Given the description of an element on the screen output the (x, y) to click on. 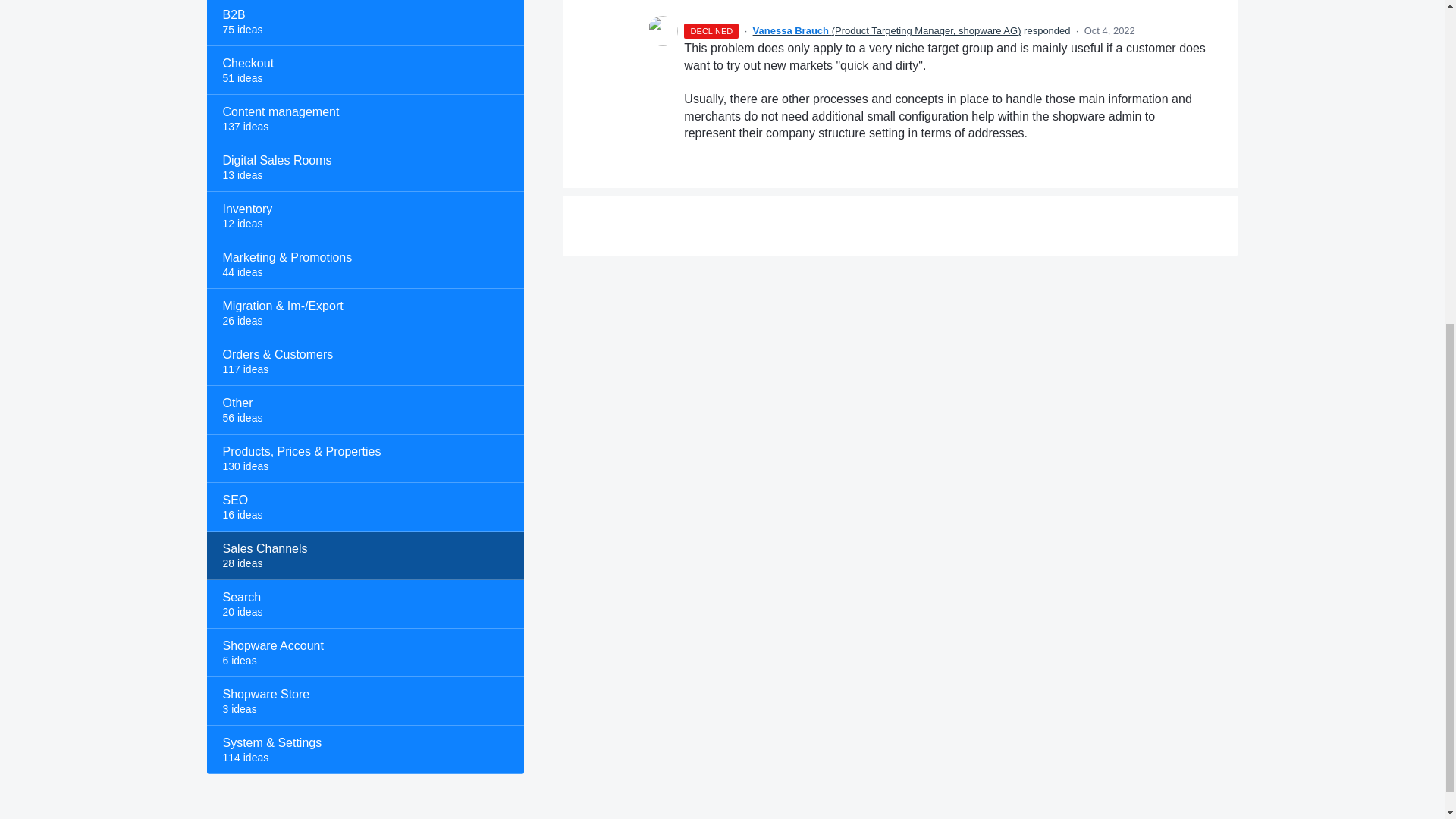
View all ideas in category B2B  (364, 22)
Digital Sales Rooms (364, 167)
Content management (364, 119)
View all ideas in category Content management (364, 119)
Checkout (364, 70)
SEO (364, 507)
View all ideas in category SEO (364, 507)
View all ideas in category Shopware Account (364, 652)
View all ideas in category Digital Sales Rooms (364, 167)
View all ideas in category Sales Channels (364, 555)
Search (364, 603)
Inventory (364, 215)
Shopware Account (364, 652)
Shopware Store (364, 701)
Other (364, 409)
